Given the description of an element on the screen output the (x, y) to click on. 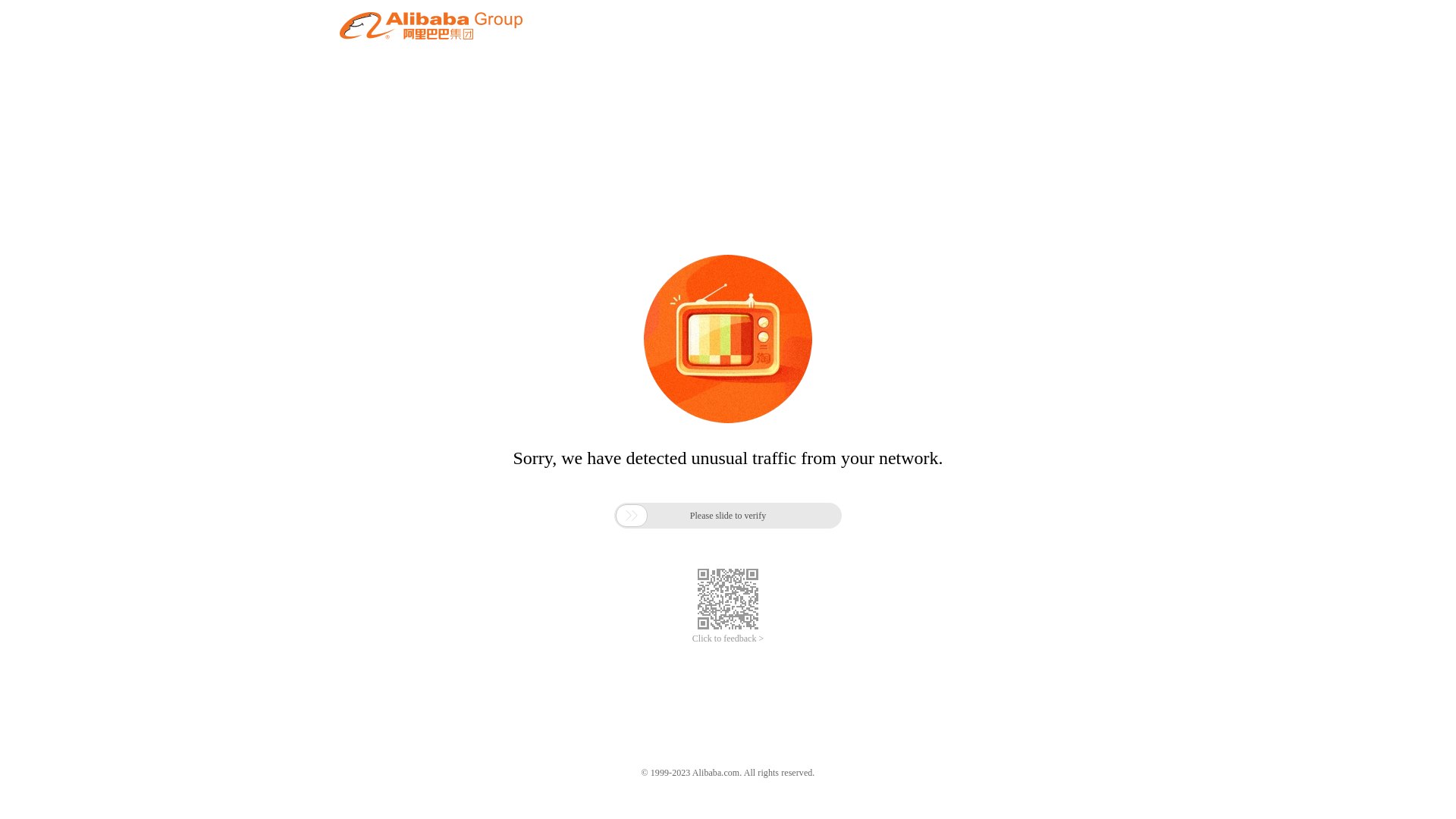
Click to feedback > Element type: text (727, 638)
